Given the description of an element on the screen output the (x, y) to click on. 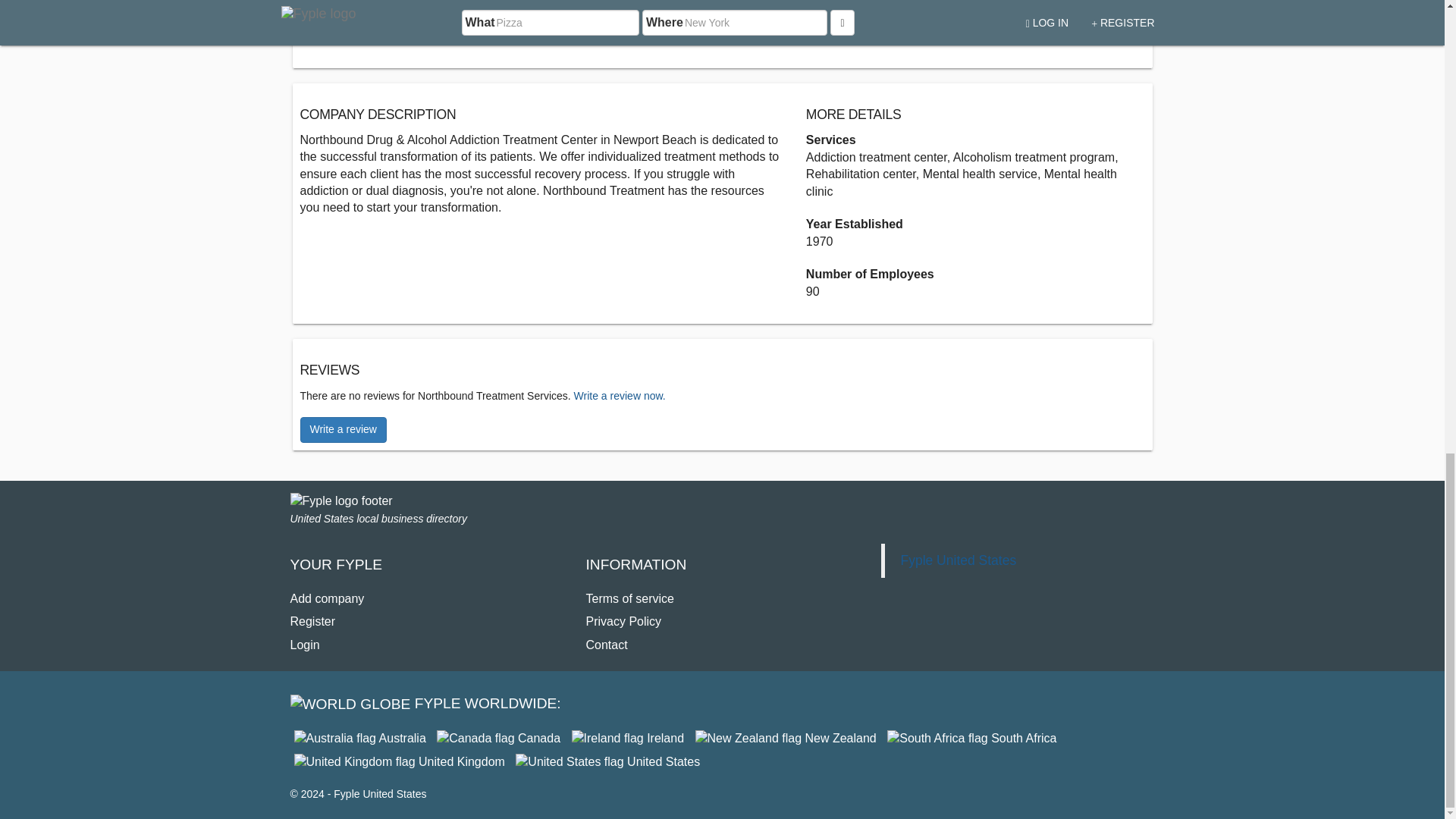
Register (311, 621)
Fyple Republic of Ireland (628, 738)
Contact (606, 644)
Canada (498, 738)
Fyple United Kingdom (399, 761)
Fyple Canada (498, 738)
Fyple Australia (360, 738)
Terms of service (628, 598)
Fyple United States (957, 560)
Write a review (343, 429)
Privacy Policy (623, 621)
Write a review now. (619, 395)
Australia (360, 738)
Fyple New Zealand (785, 738)
Add company (326, 598)
